Given the description of an element on the screen output the (x, y) to click on. 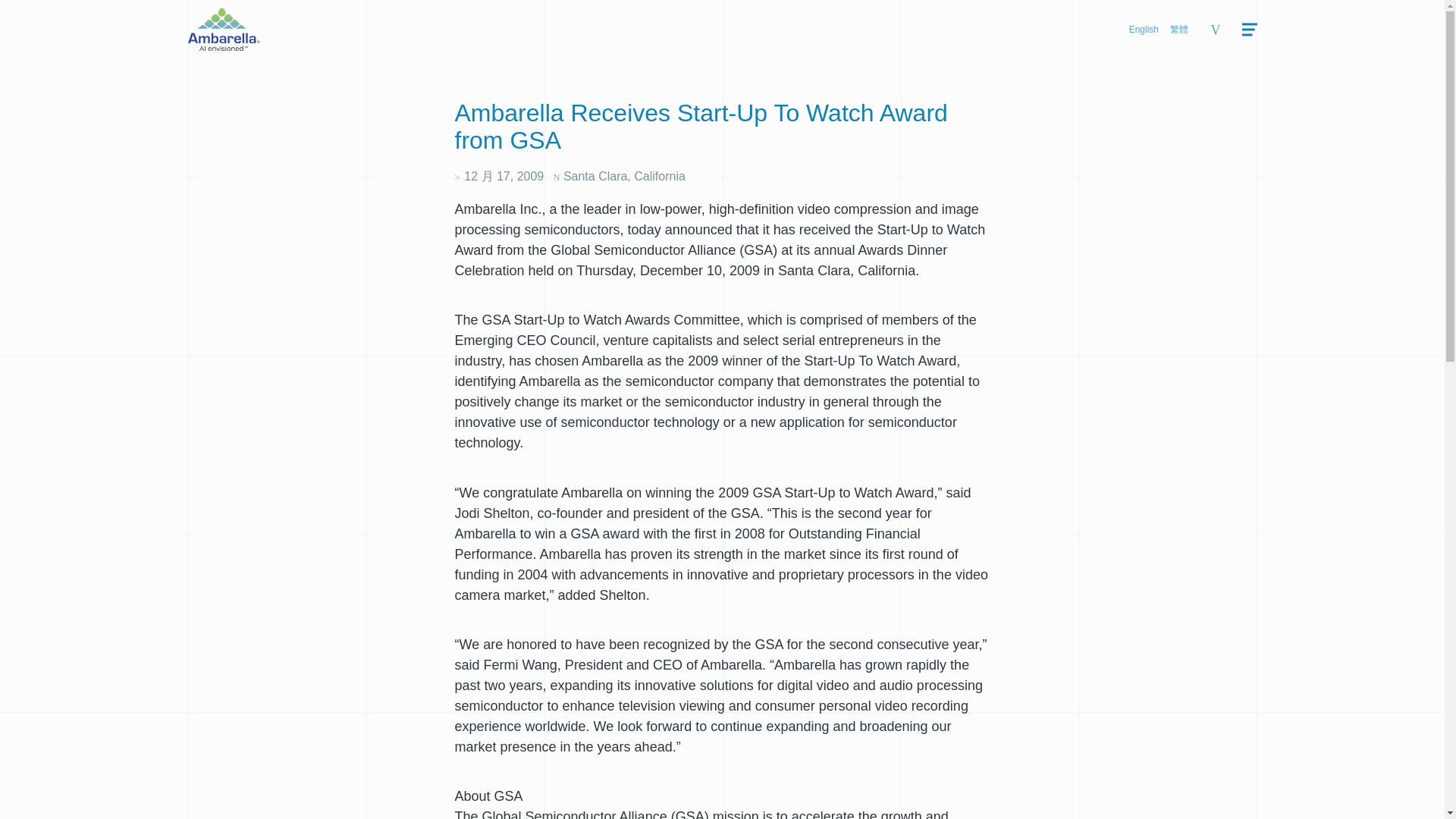
Home (223, 28)
Home (223, 46)
English (1143, 29)
